Given the description of an element on the screen output the (x, y) to click on. 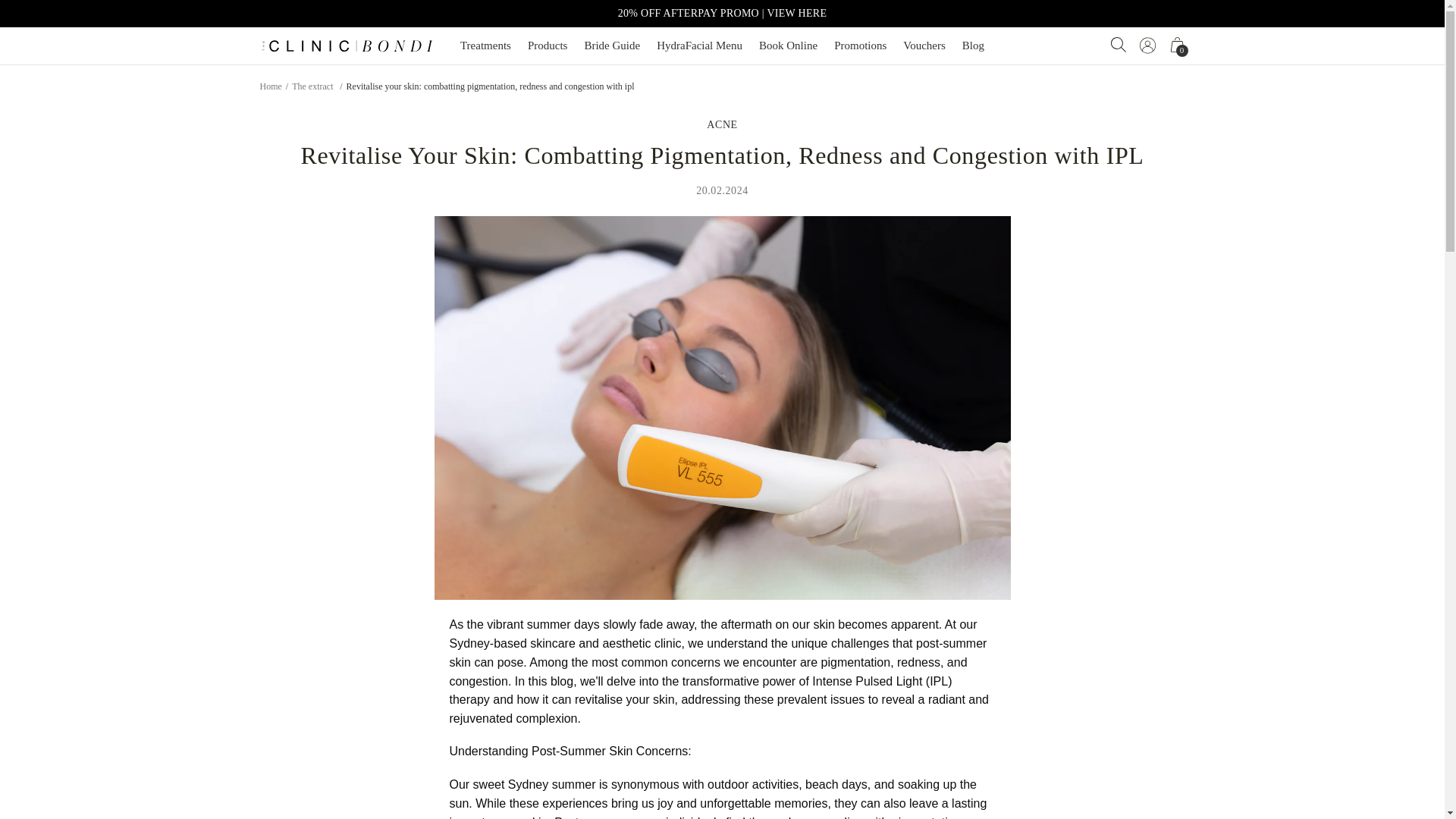
Home (312, 85)
Treatments (485, 45)
Home (270, 85)
